Given the description of an element on the screen output the (x, y) to click on. 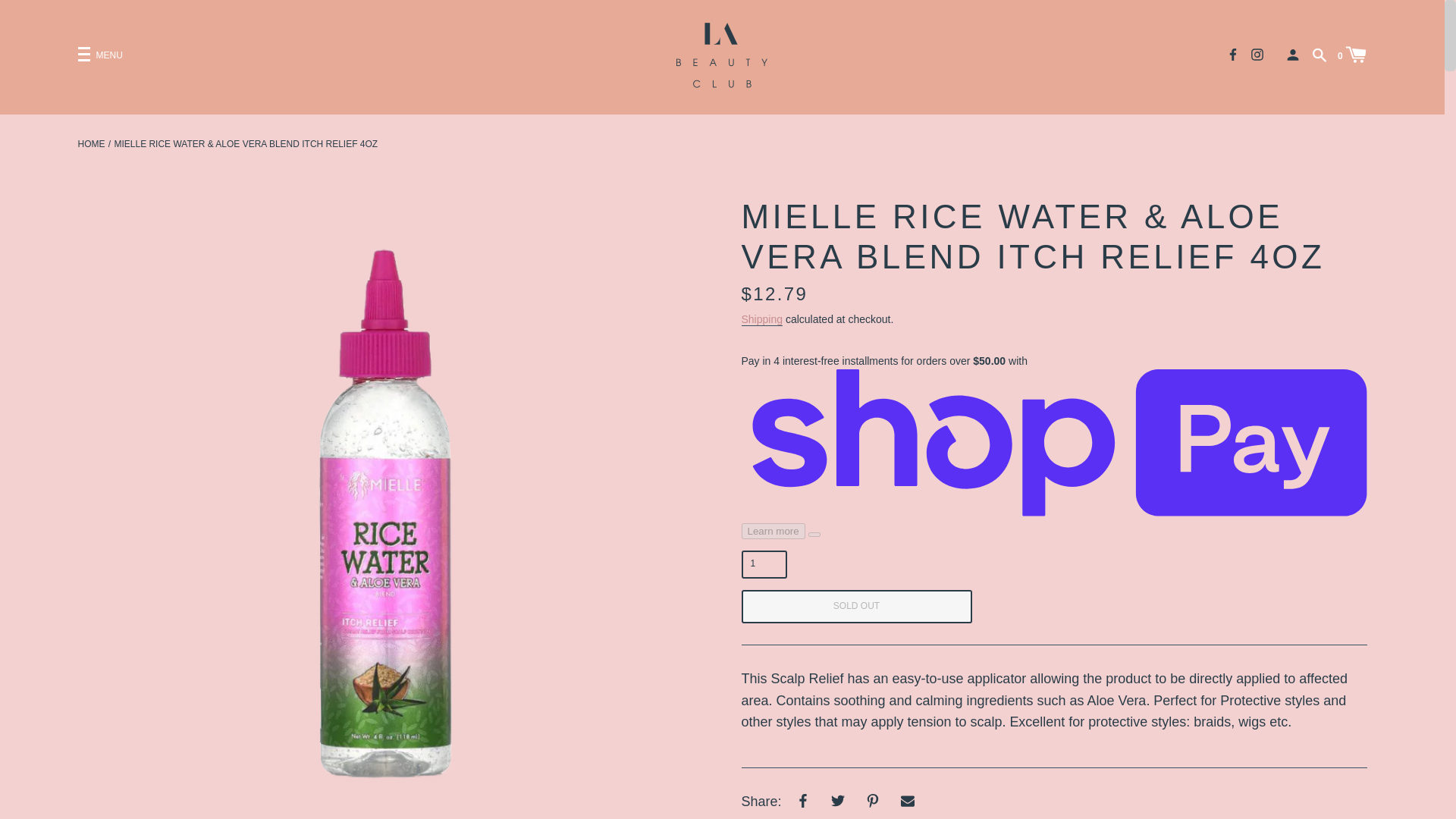
LABeautyClub on Facebook (1233, 53)
Back to the frontpage (90, 144)
1 (764, 564)
LABeautyClub on Instagram (1256, 53)
